Given the description of an element on the screen output the (x, y) to click on. 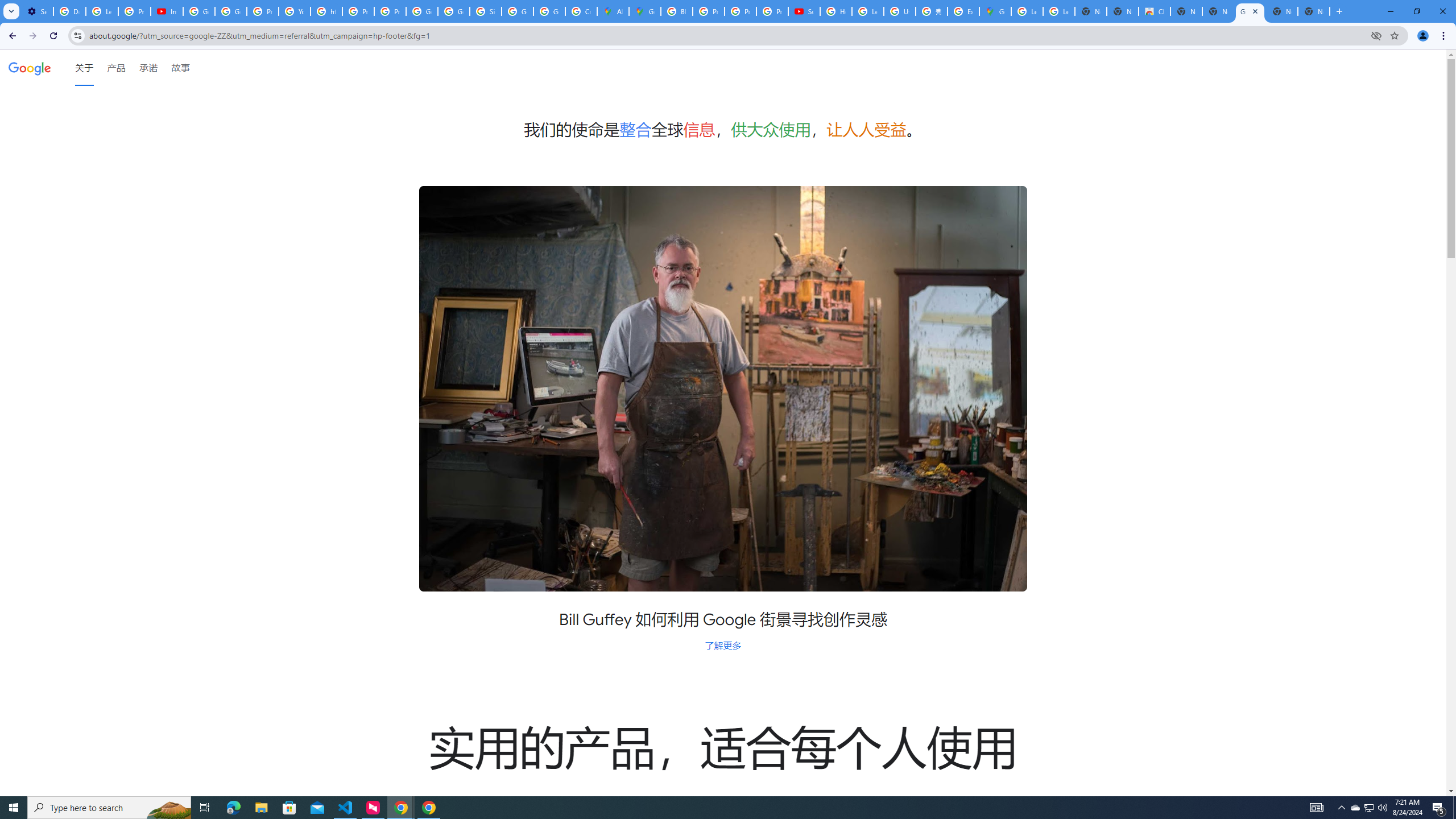
Blogger Policies and Guidelines - Transparency Center (676, 11)
Settings - Customize profile (37, 11)
Google Account Help (198, 11)
Sign in - Google Accounts (485, 11)
Subscriptions - YouTube (804, 11)
